Given the description of an element on the screen output the (x, y) to click on. 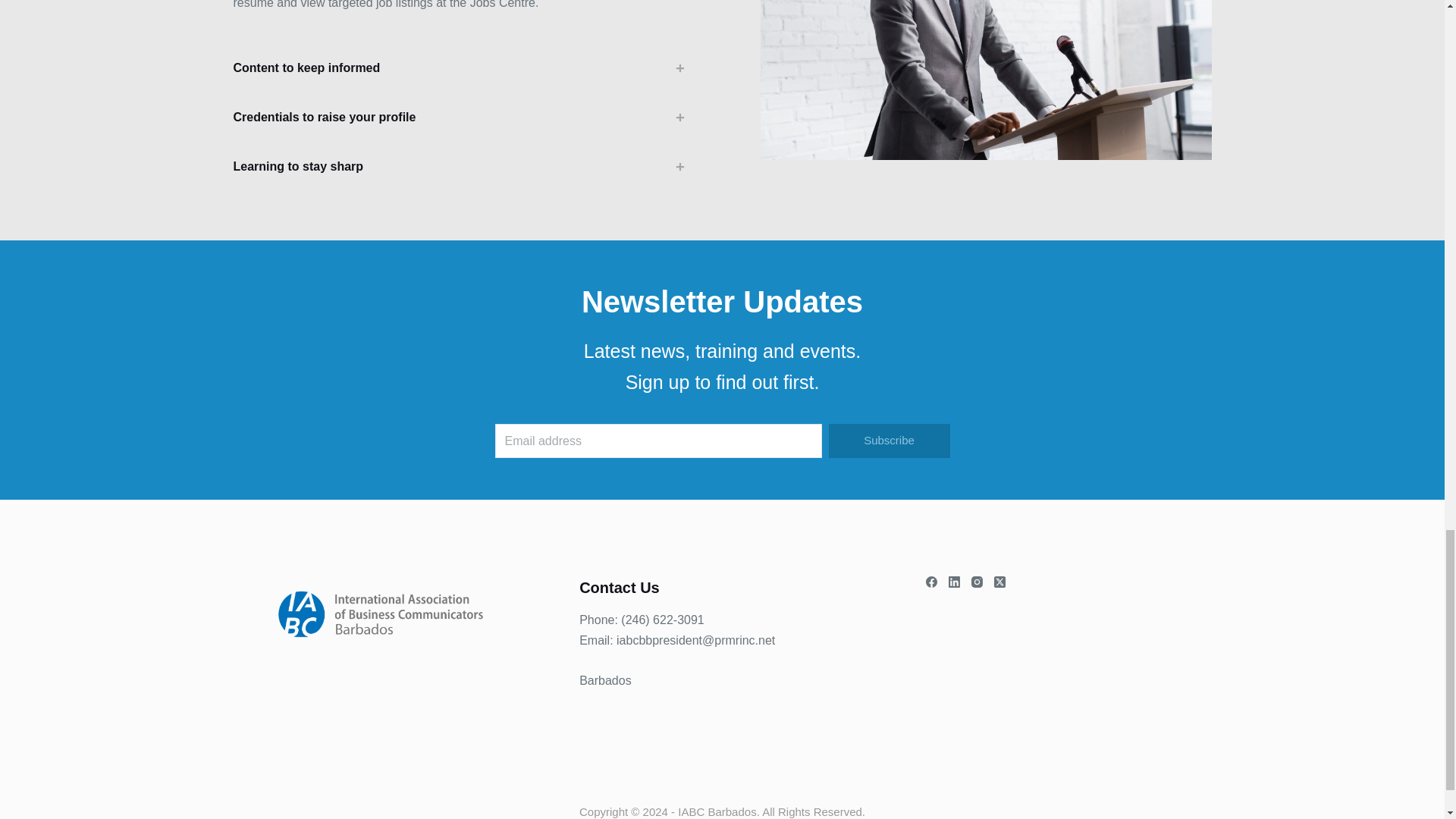
Subscribe (888, 440)
